Given the description of an element on the screen output the (x, y) to click on. 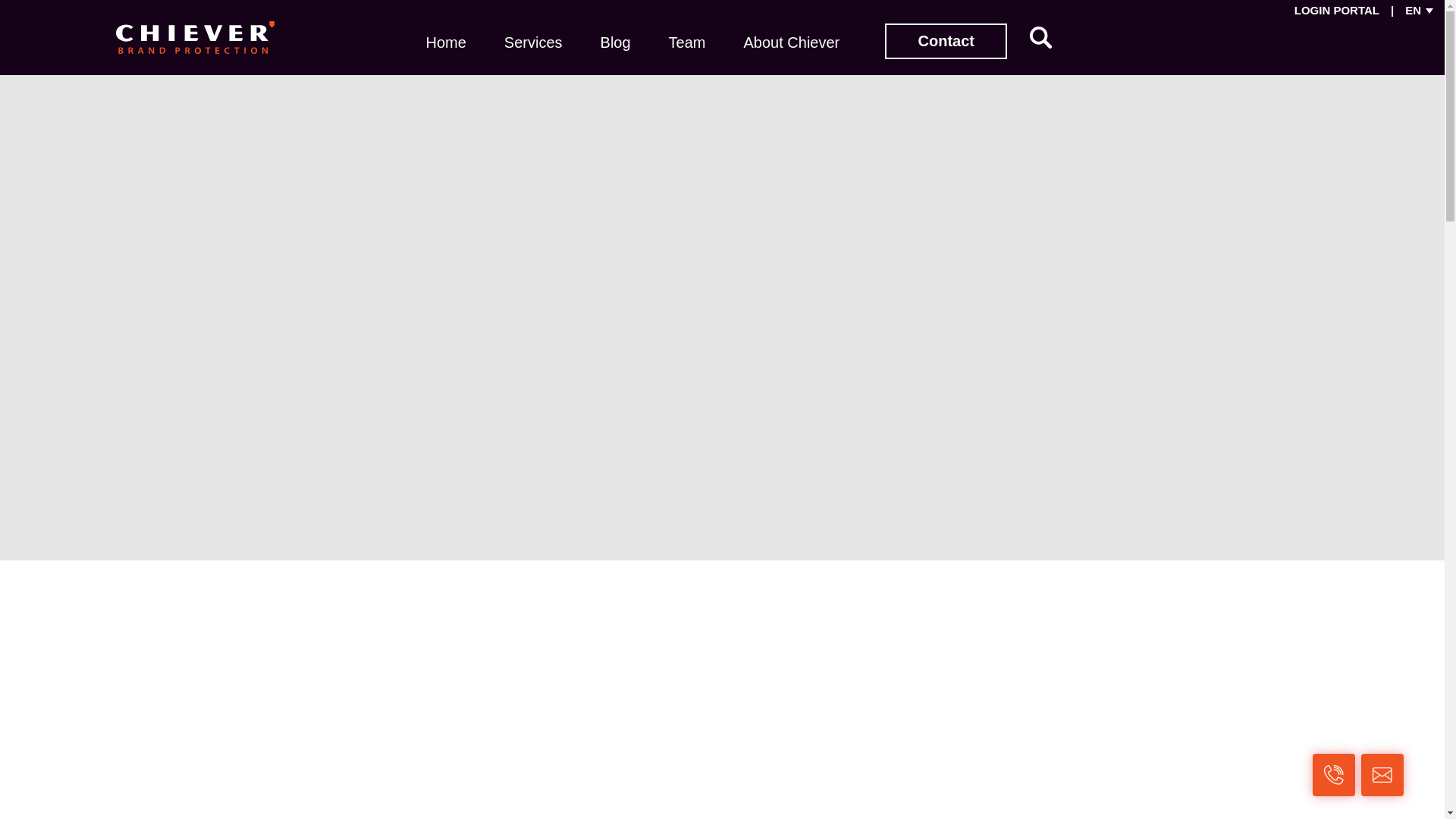
Contact (946, 40)
Services (533, 41)
About Chiever (791, 41)
